Given the description of an element on the screen output the (x, y) to click on. 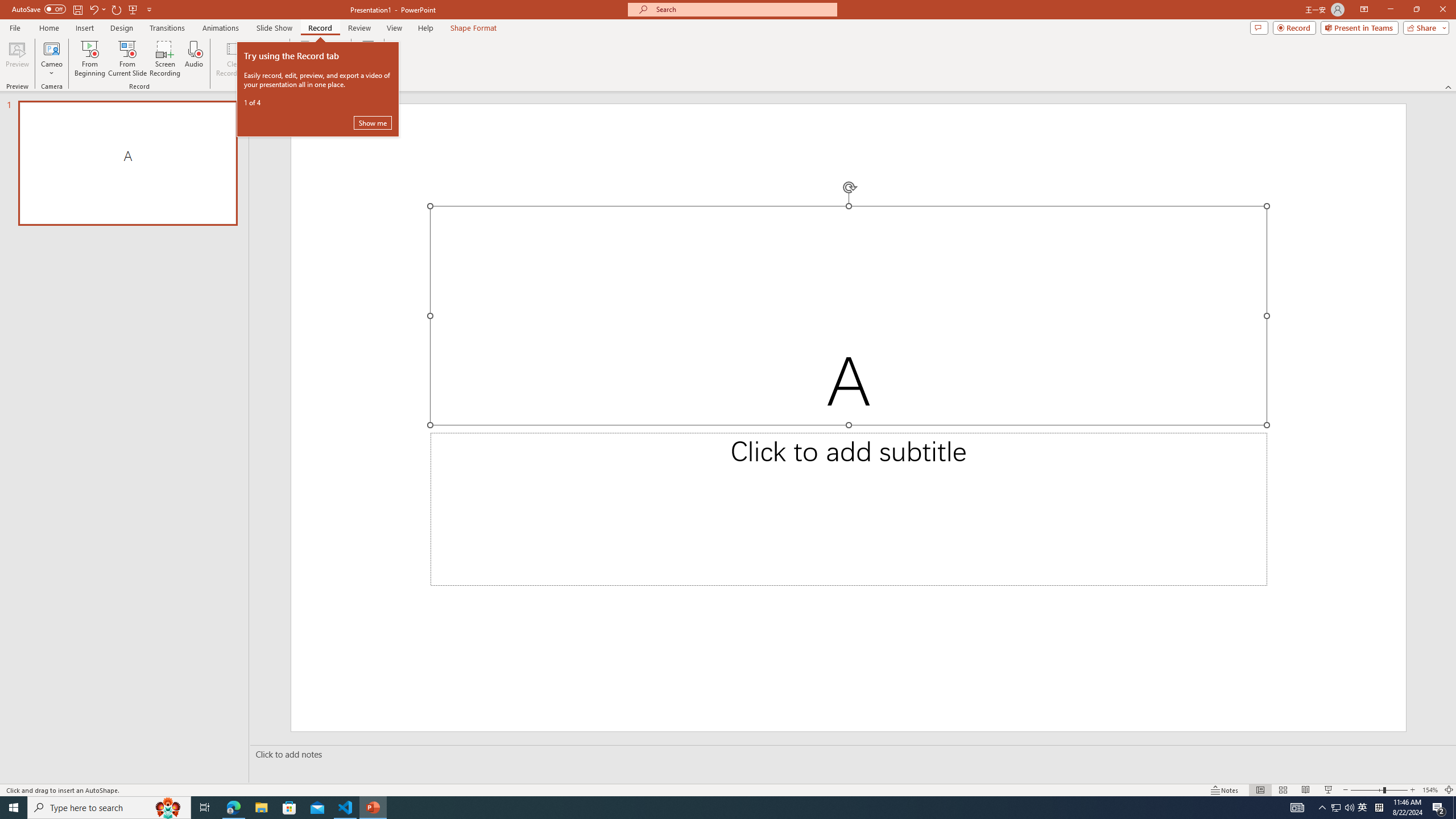
Clear Recording (234, 58)
Zoom 154% (1430, 790)
Save as Show (306, 58)
